Given the description of an element on the screen output the (x, y) to click on. 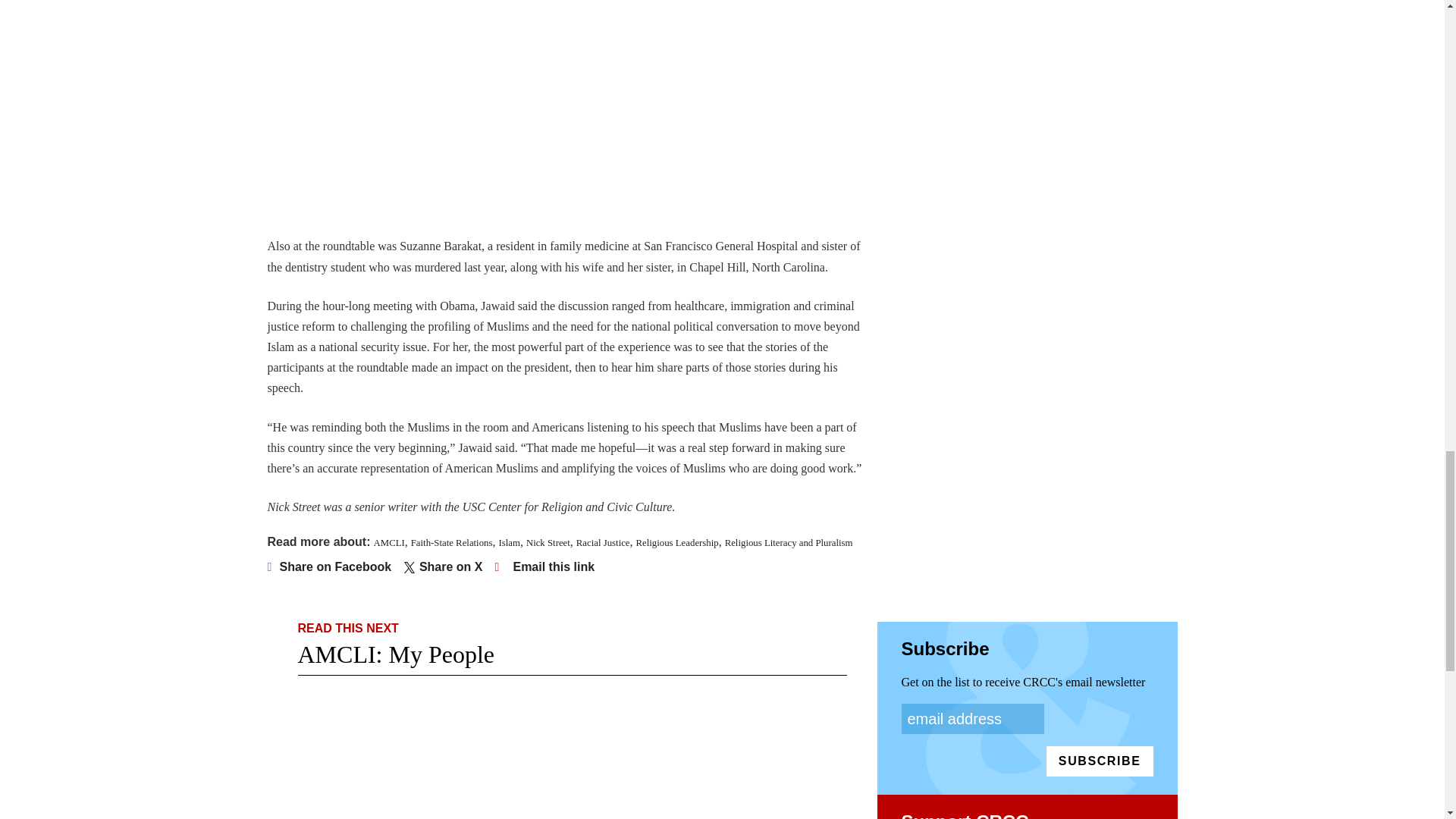
The President Speaks at the Islamic Society of Baltimore (509, 105)
Subscribe (1099, 761)
